Given the description of an element on the screen output the (x, y) to click on. 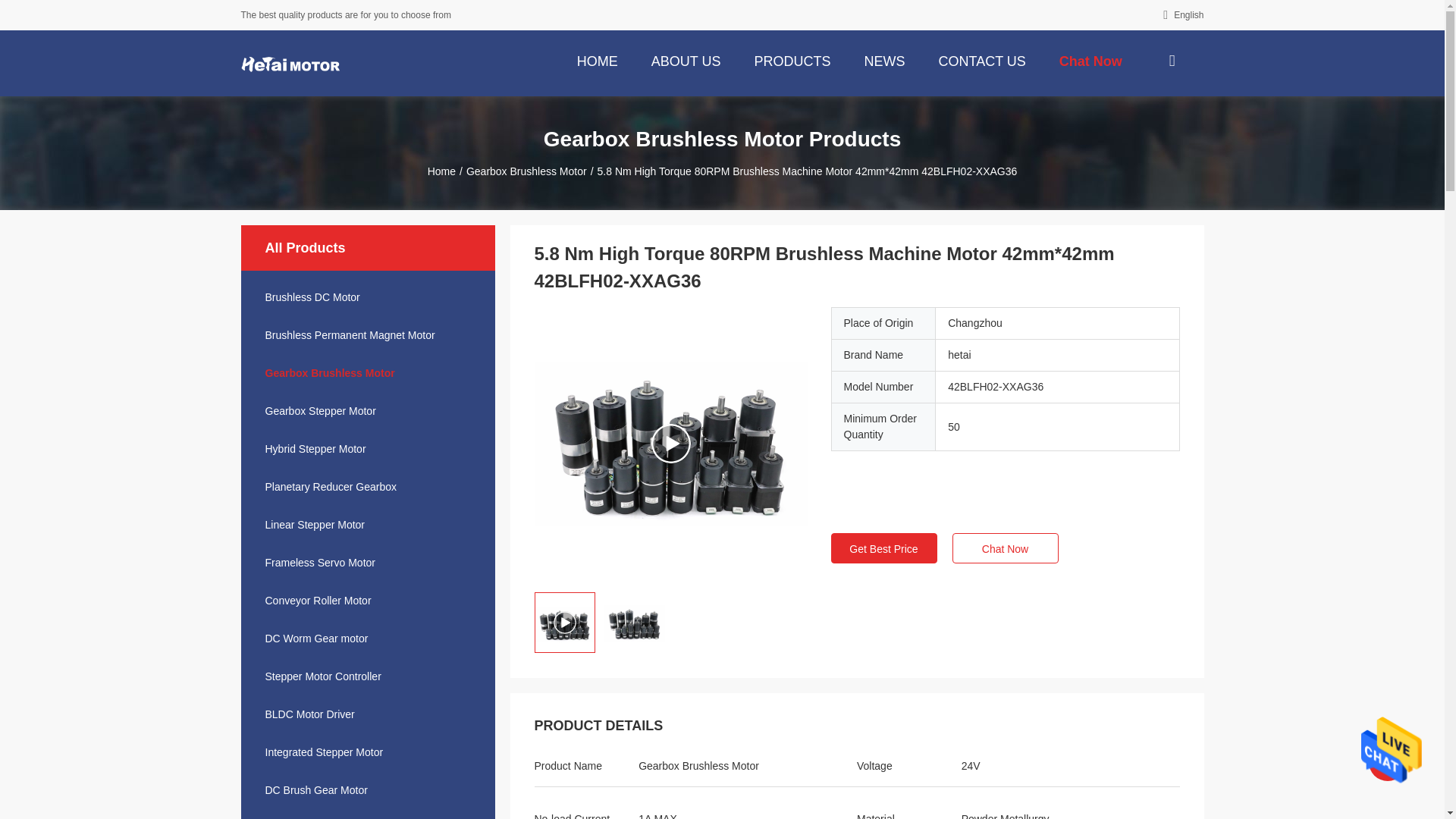
PRODUCTS (792, 60)
HOME (597, 60)
ABOUT US (686, 60)
